Given the description of an element on the screen output the (x, y) to click on. 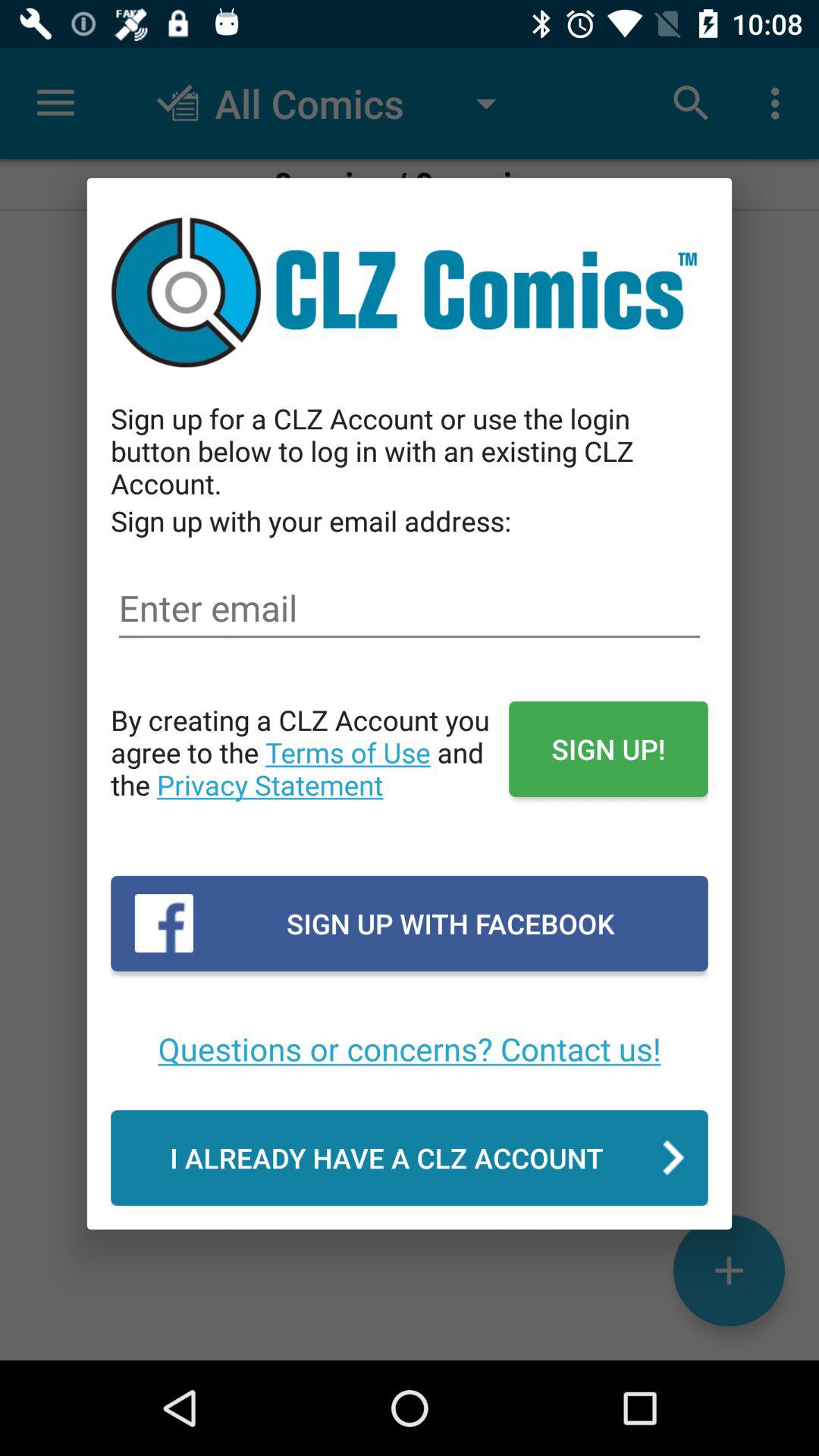
tap the by creating a item (309, 768)
